Given the description of an element on the screen output the (x, y) to click on. 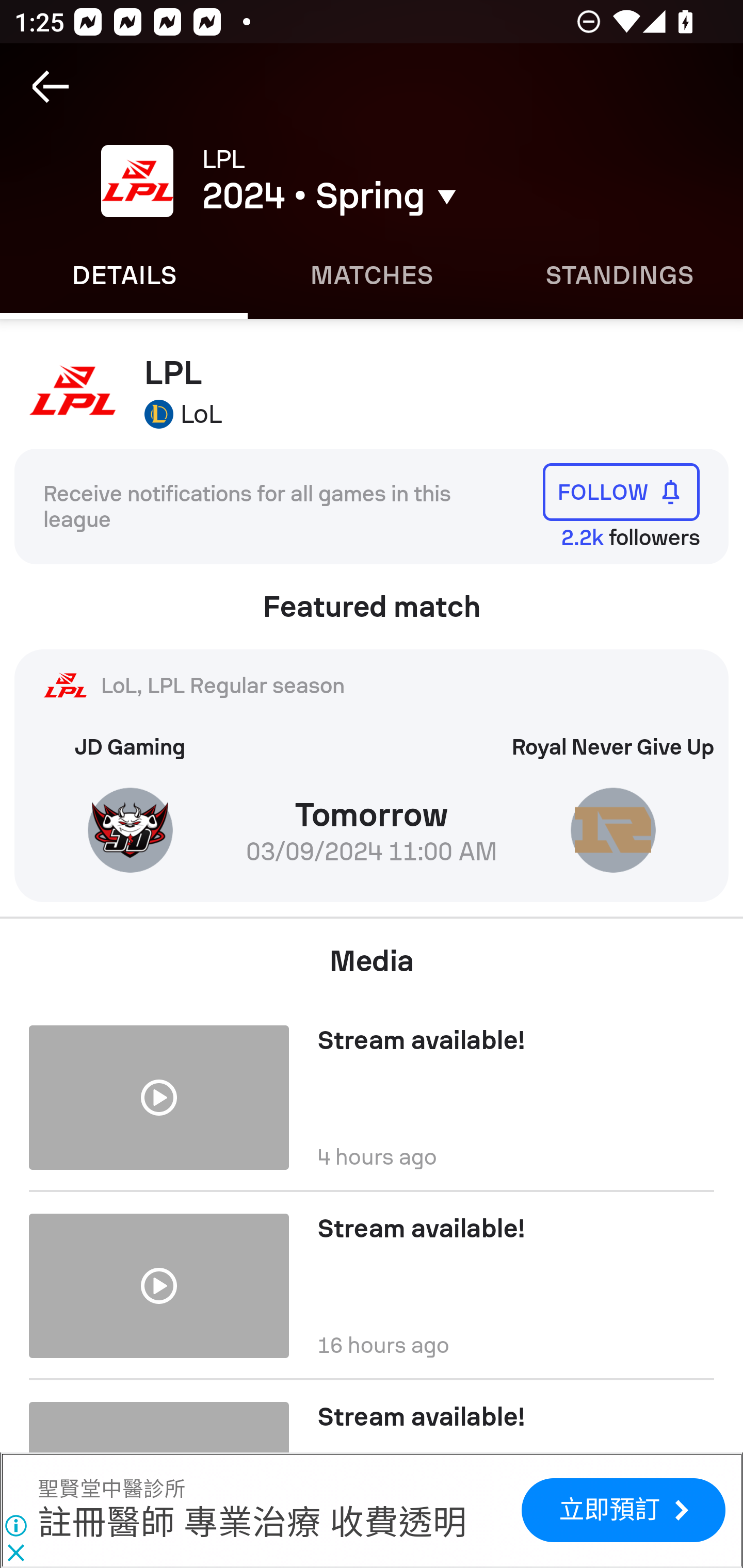
Navigate up (50, 86)
LPL 2024 • Spring (407, 181)
Matches MATCHES (371, 275)
Standings STANDINGS (619, 275)
FOLLOW (621, 491)
picture Stream available! picture 4 hours ago (371, 1090)
picture Stream available! picture 16 hours ago (371, 1285)
picture Stream available! (371, 1415)
聖賢堂中醫診所 (111, 1489)
立即預訂 (623, 1510)
註冊醫師 專業治療 收費透明 (252, 1523)
